Given the description of an element on the screen output the (x, y) to click on. 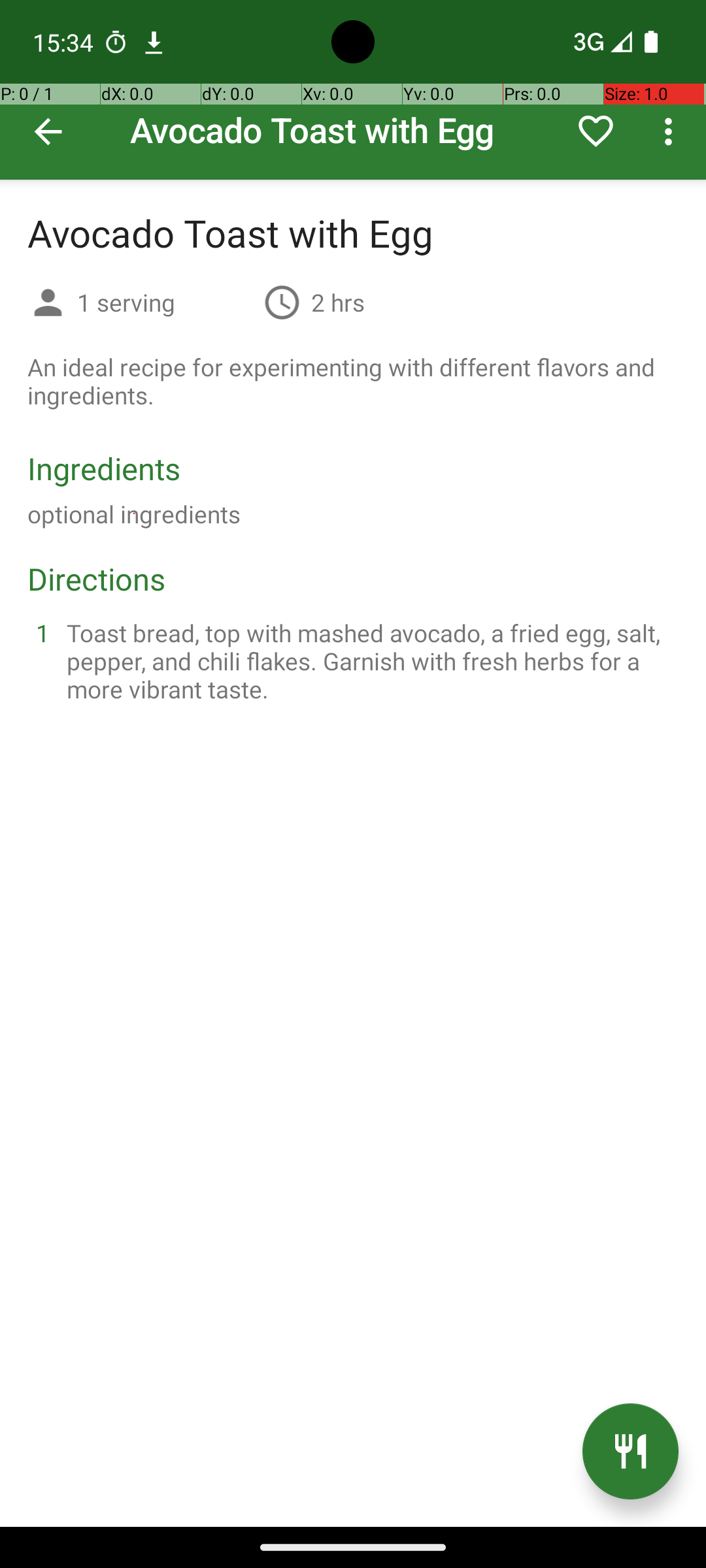
Toast bread, top with mashed avocado, a fried egg, salt, pepper, and chili flakes. Garnish with fresh herbs for a more vibrant taste. Element type: android.widget.TextView (368, 660)
